Given the description of an element on the screen output the (x, y) to click on. 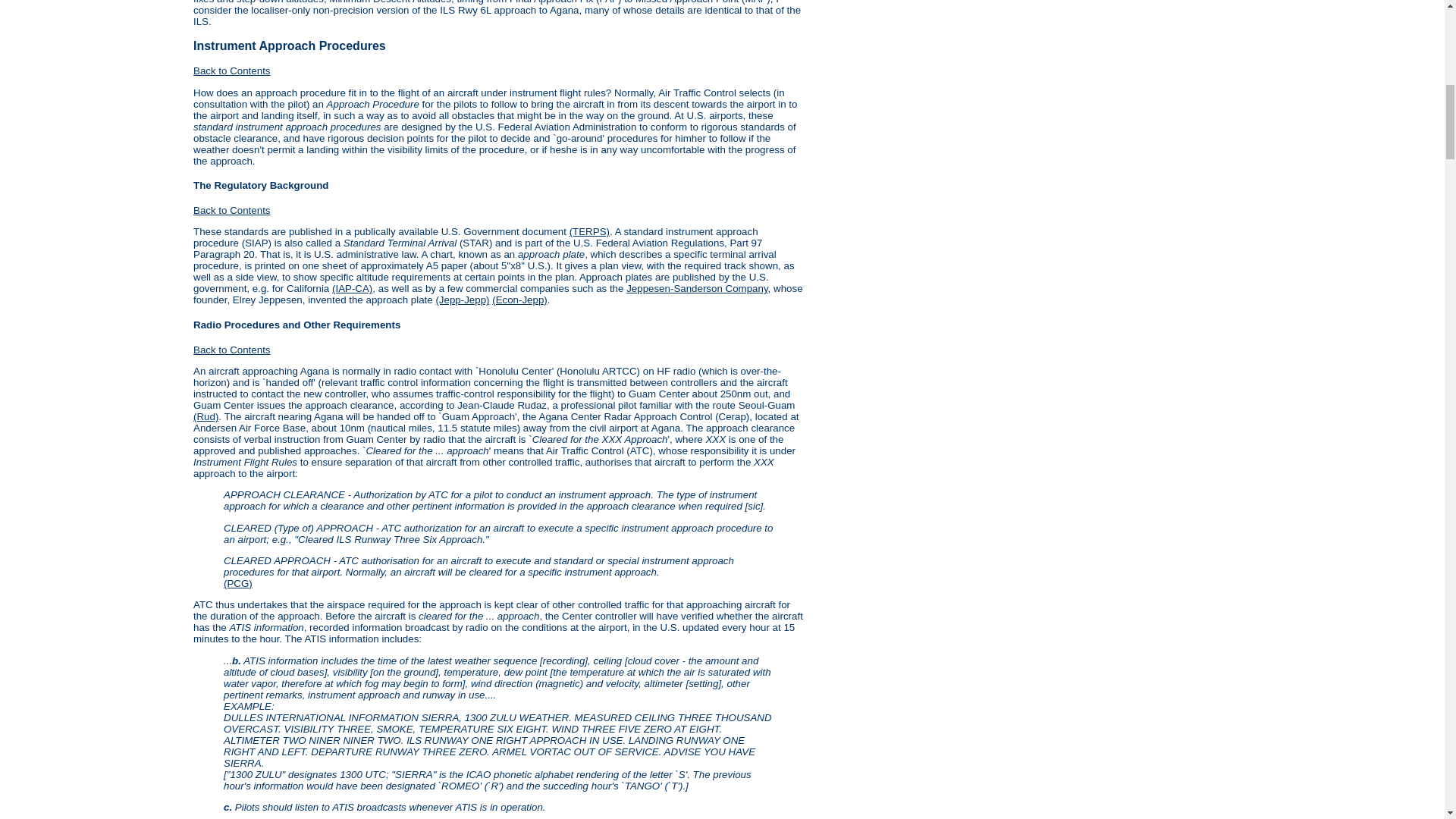
Jeppesen-Sanderson Company (696, 288)
Back to Contents (231, 70)
Back to Contents (231, 210)
Instrument Approach Procedures (289, 45)
Back to Contents (231, 349)
The Regulatory Background (261, 184)
Radio Procedures and Other Requirements (296, 324)
